Given the description of an element on the screen output the (x, y) to click on. 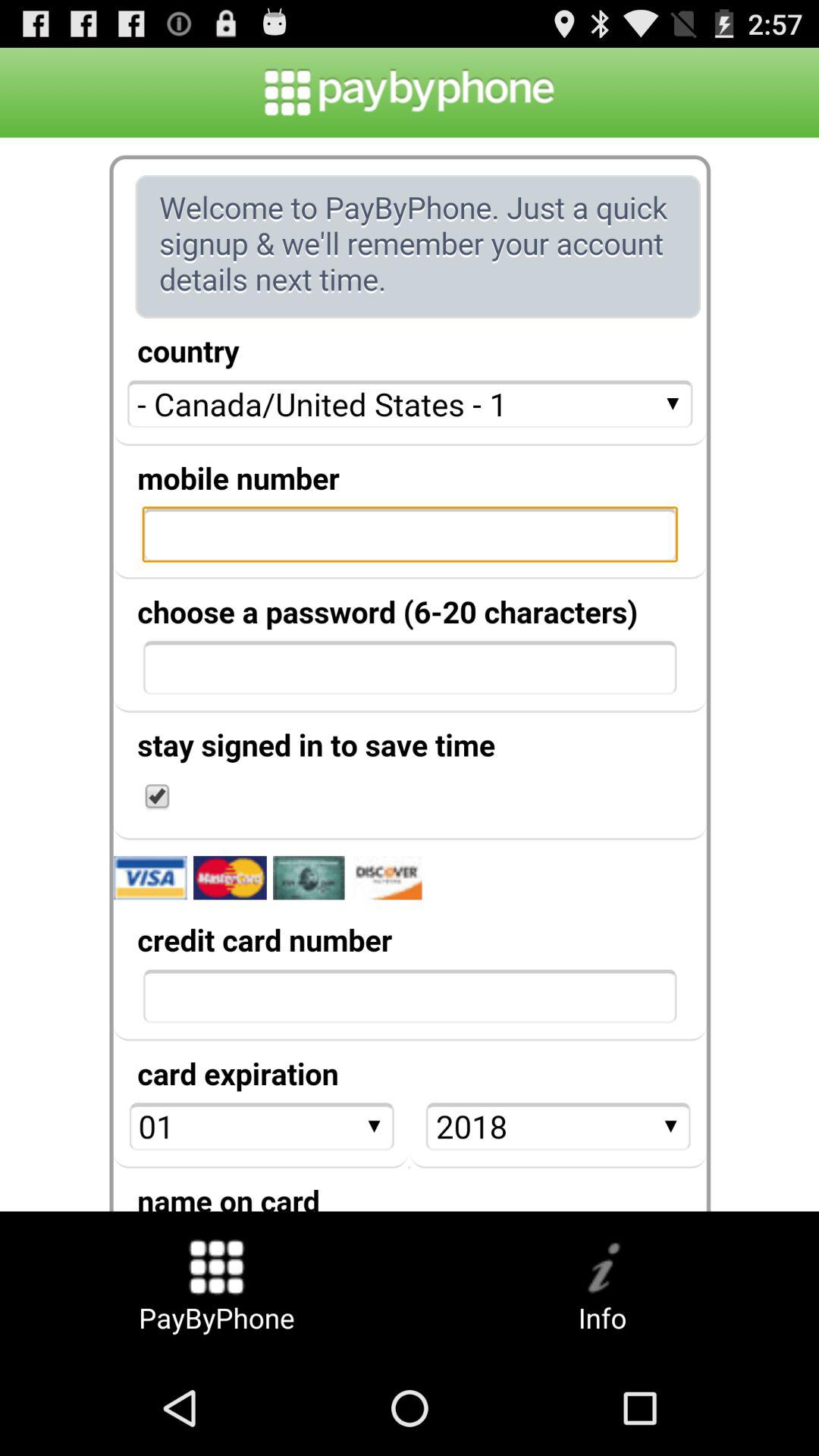
off screen (409, 674)
